Given the description of an element on the screen output the (x, y) to click on. 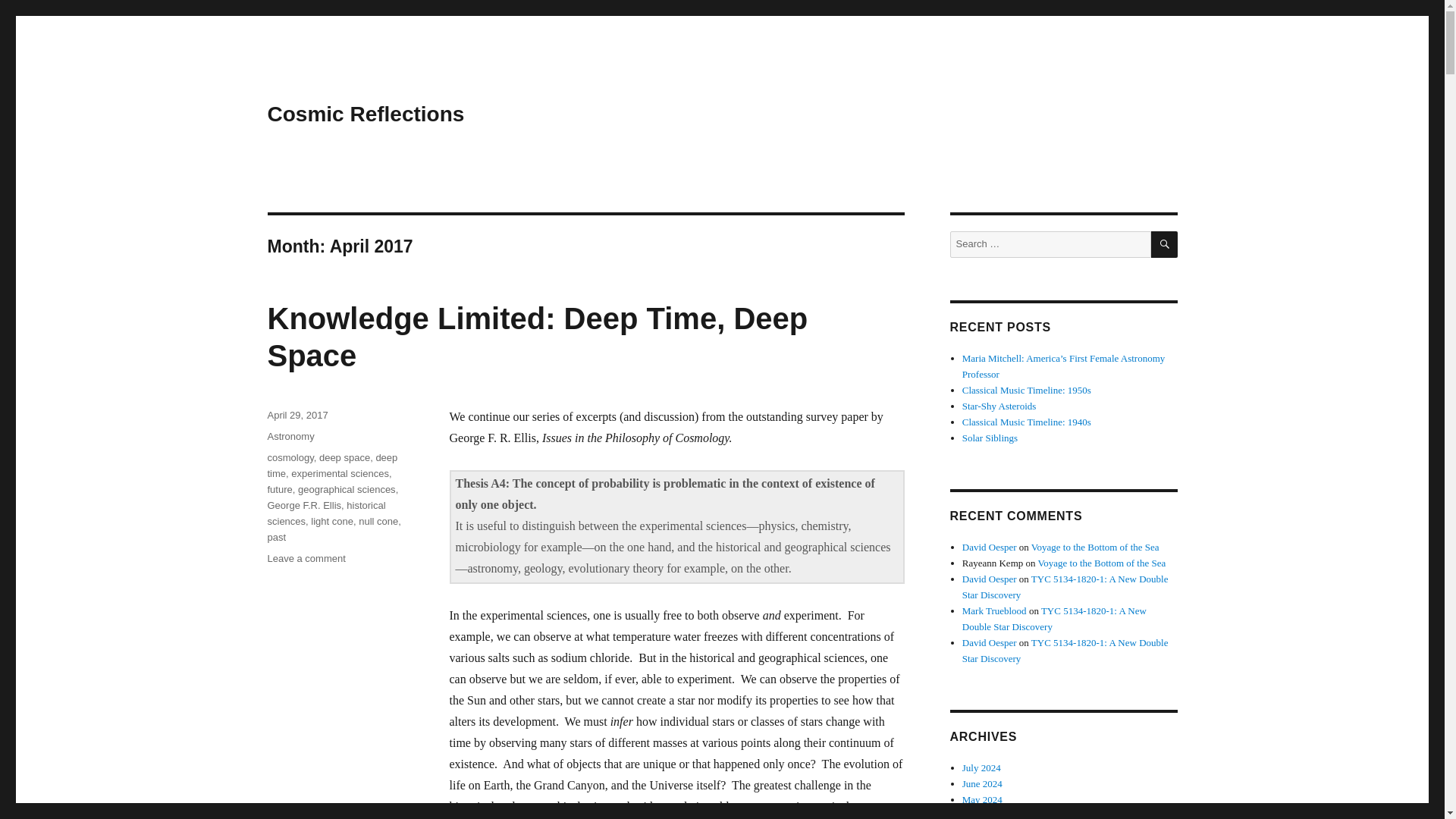
future (279, 489)
Knowledge Limited: Deep Time, Deep Space (537, 337)
deep time (305, 558)
experimental sciences (331, 465)
past (339, 473)
geographical sciences (275, 536)
deep space (347, 489)
George F.R. Ellis (343, 457)
null cone (303, 505)
Cosmic Reflections (377, 521)
historical sciences (365, 114)
Astronomy (325, 513)
cosmology (290, 436)
April 29, 2017 (289, 457)
